Given the description of an element on the screen output the (x, y) to click on. 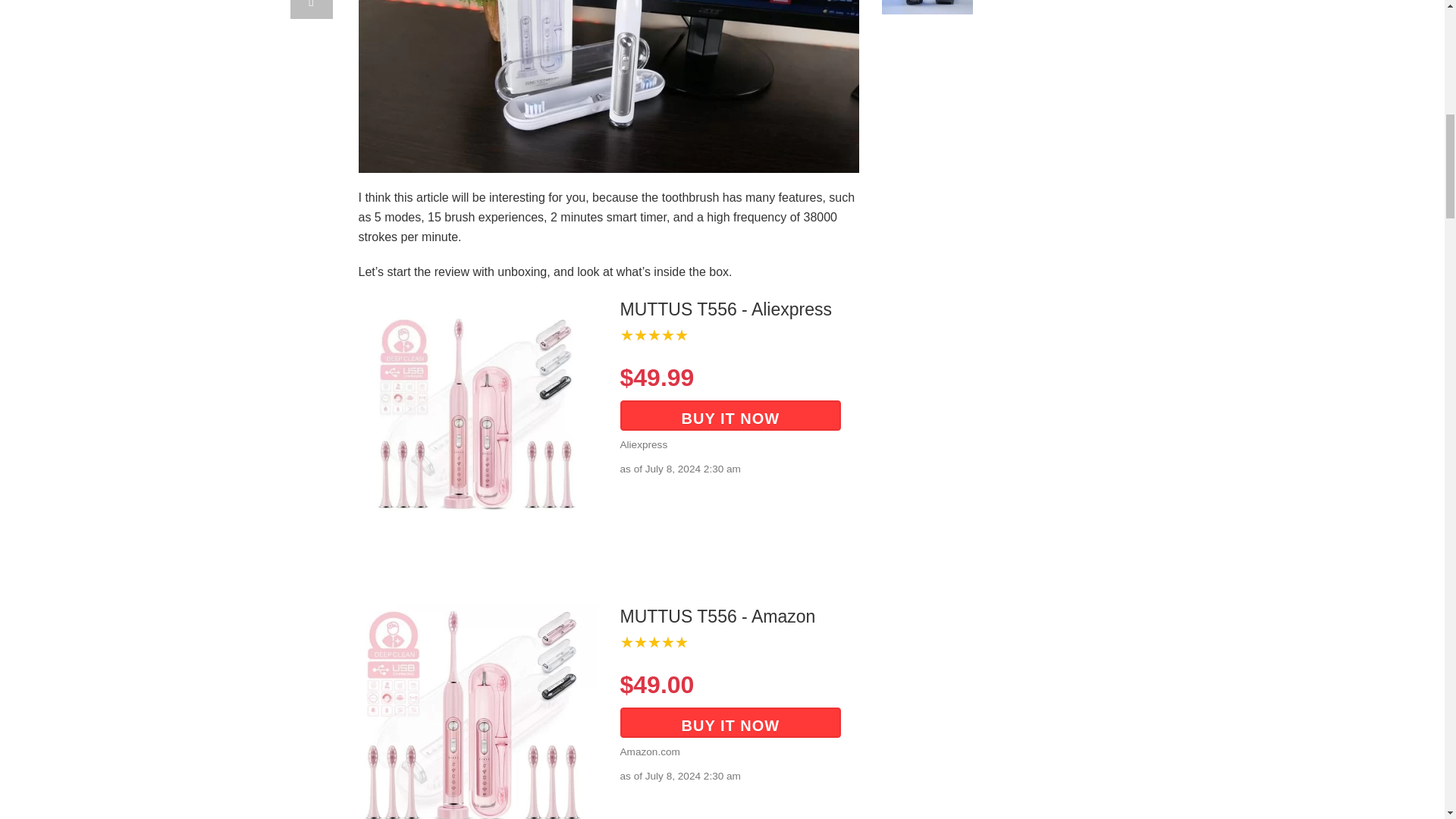
Advertisement (1017, 138)
